Given the description of an element on the screen output the (x, y) to click on. 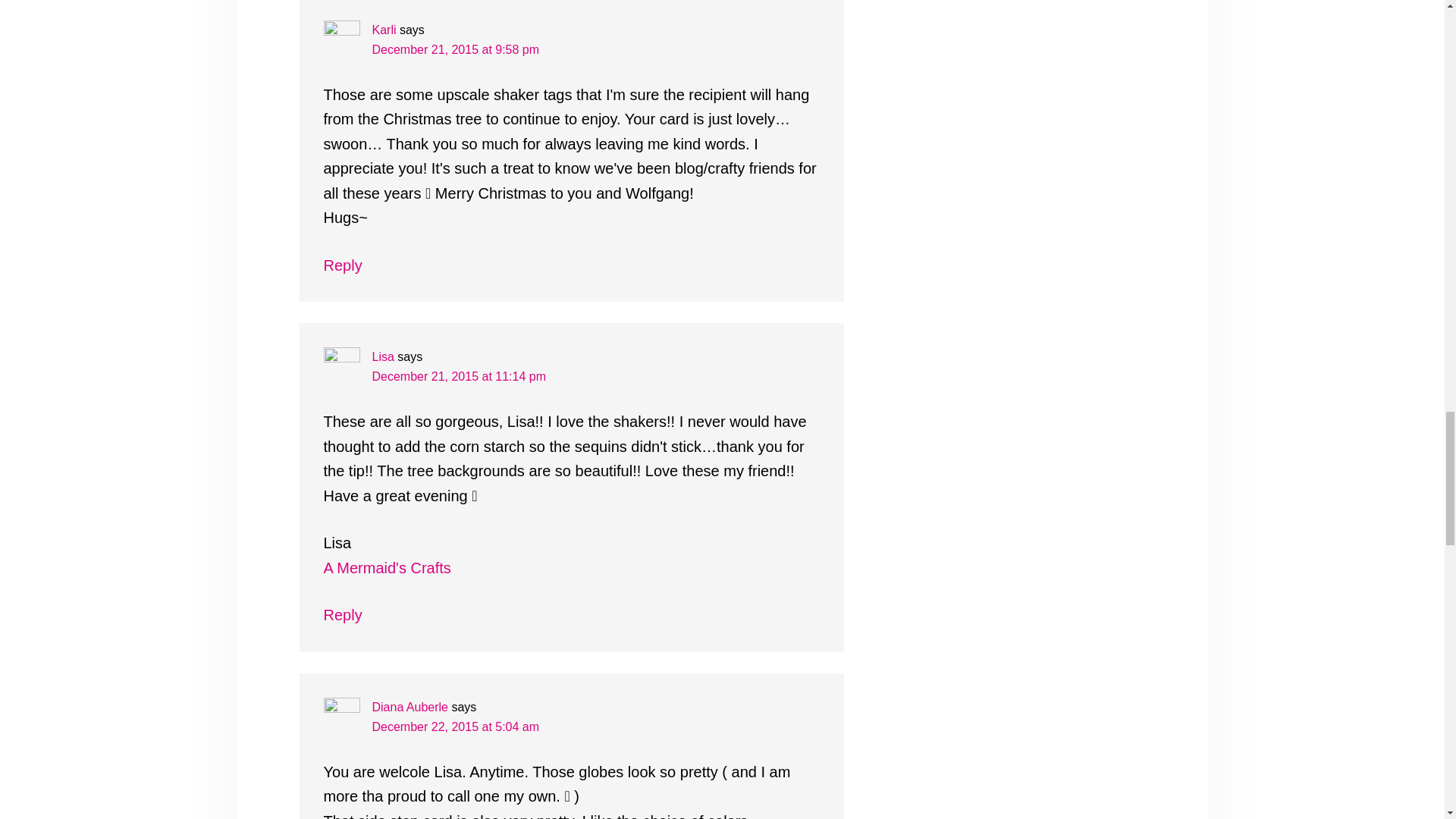
December 21, 2015 at 9:58 pm (454, 49)
Karli (383, 29)
Reply (342, 265)
Lisa (382, 356)
